Given the description of an element on the screen output the (x, y) to click on. 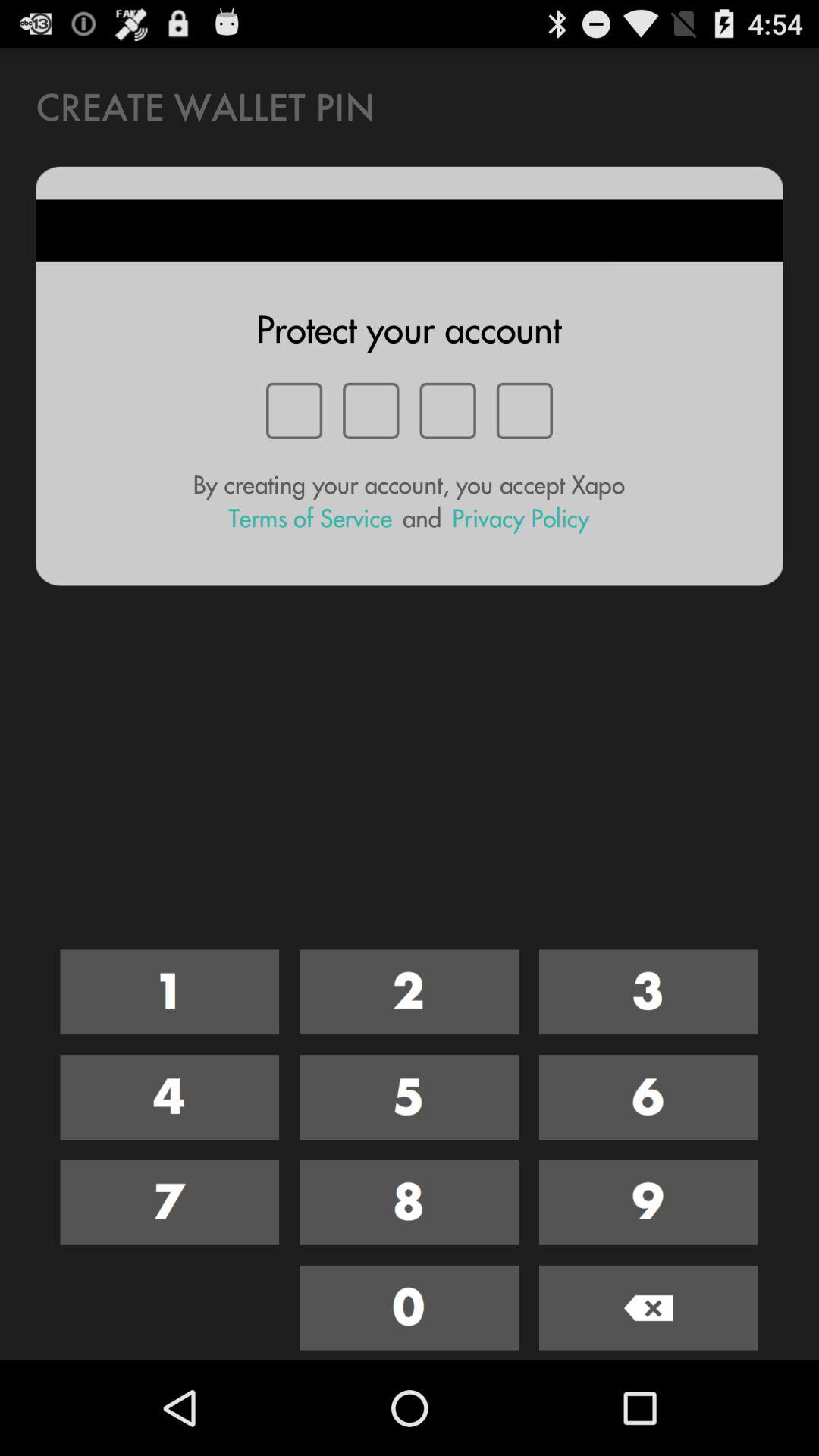
turn on item to the right of and (520, 518)
